Given the description of an element on the screen output the (x, y) to click on. 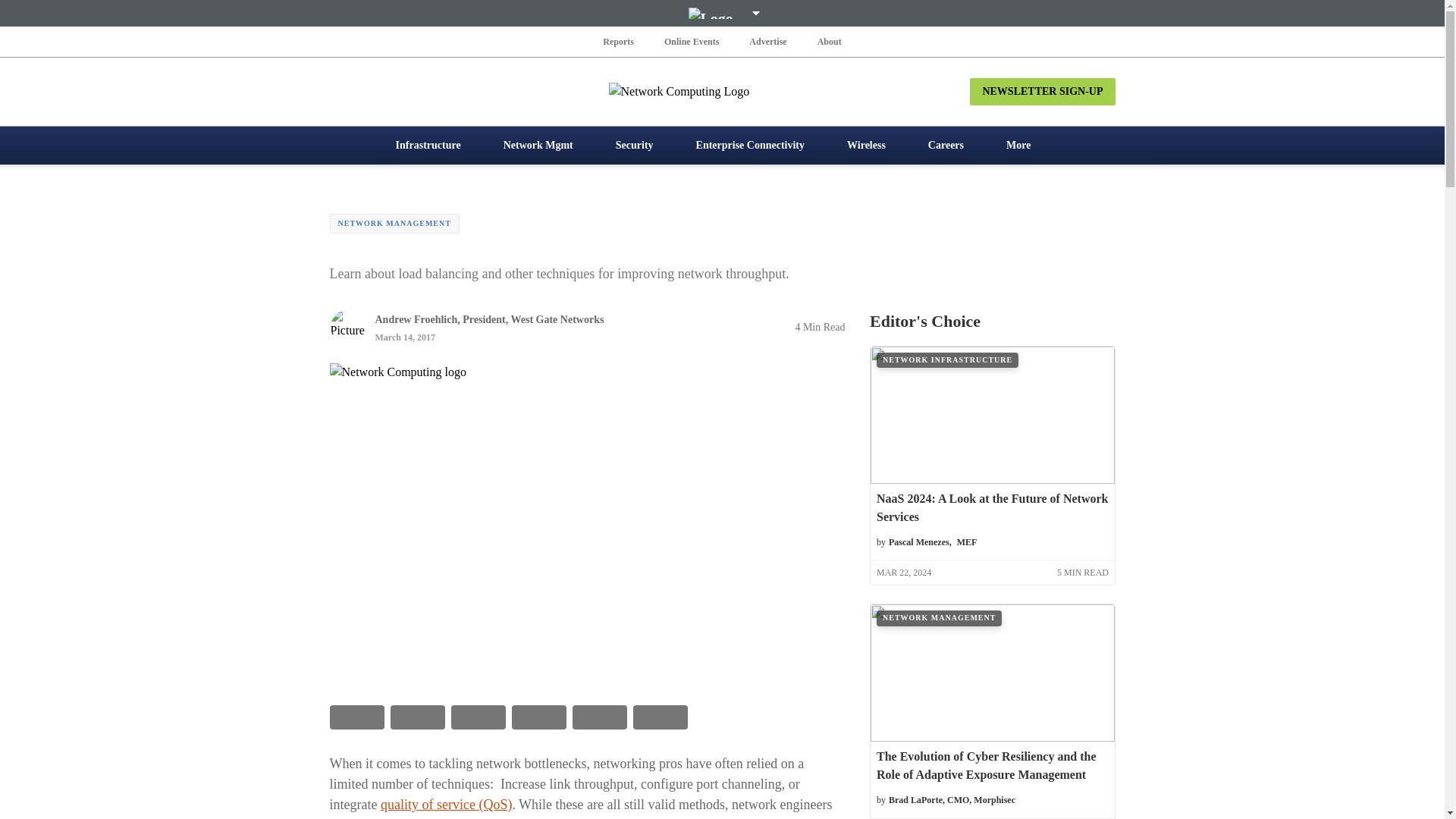
Advertise (767, 41)
About (828, 41)
NEWSLETTER SIGN-UP (1042, 90)
Picture of Andrew Froehlich, President, West Gate Networks (347, 326)
Reports (618, 41)
Online Events (691, 41)
Network Computing Logo (721, 91)
